Given the description of an element on the screen output the (x, y) to click on. 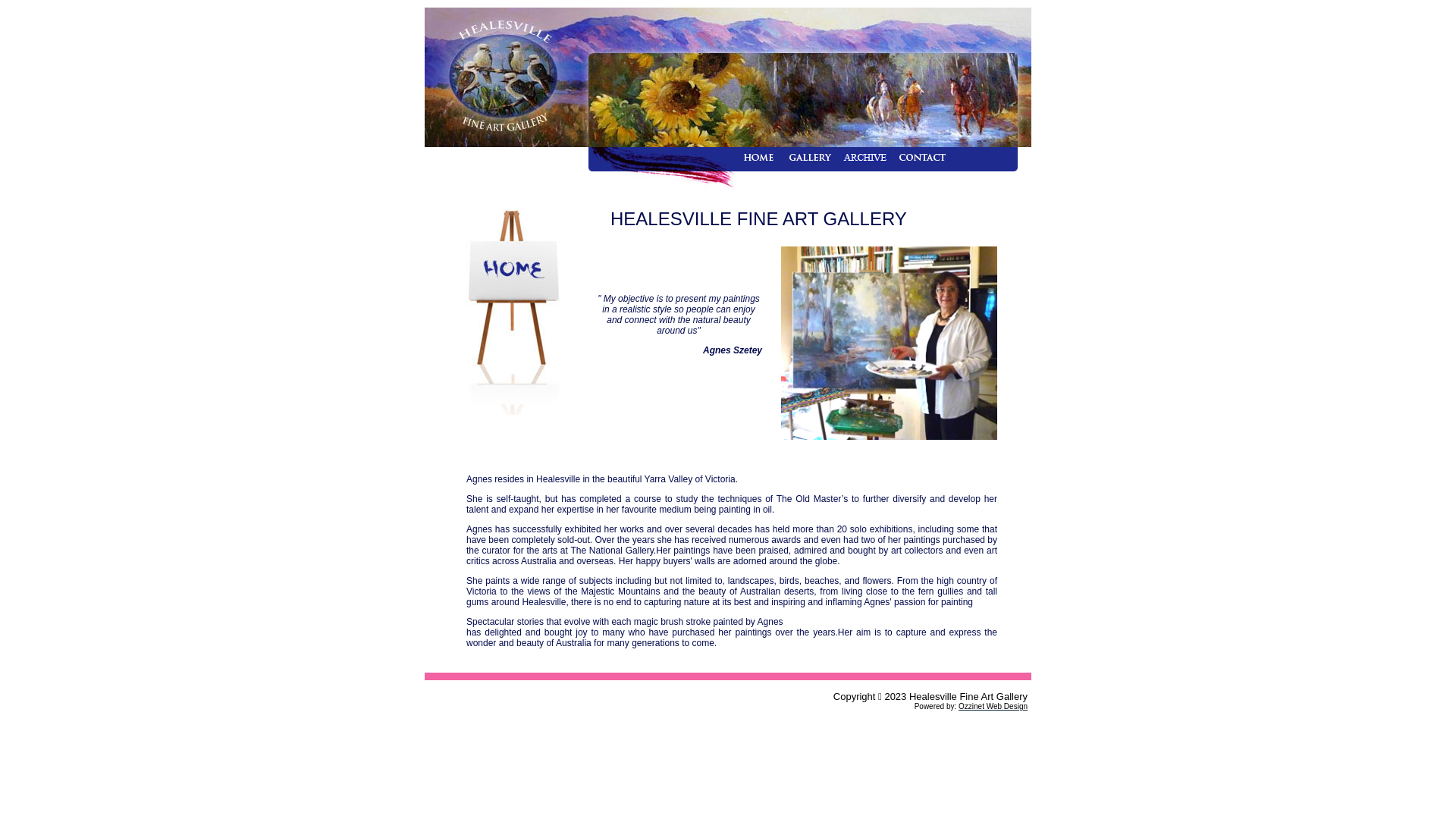
Contact Element type: hover (924, 157)
Home Element type: hover (765, 157)
Ozzinet Web Design Element type: text (992, 706)
Archive Element type: hover (869, 157)
Left Navigation Image Element type: hover (583, 167)
Right Navigation Image Element type: hover (1021, 167)
Healesville Fine Art Gallery Banner Element type: hover (727, 77)
Gallery Element type: hover (814, 157)
